Given the description of an element on the screen output the (x, y) to click on. 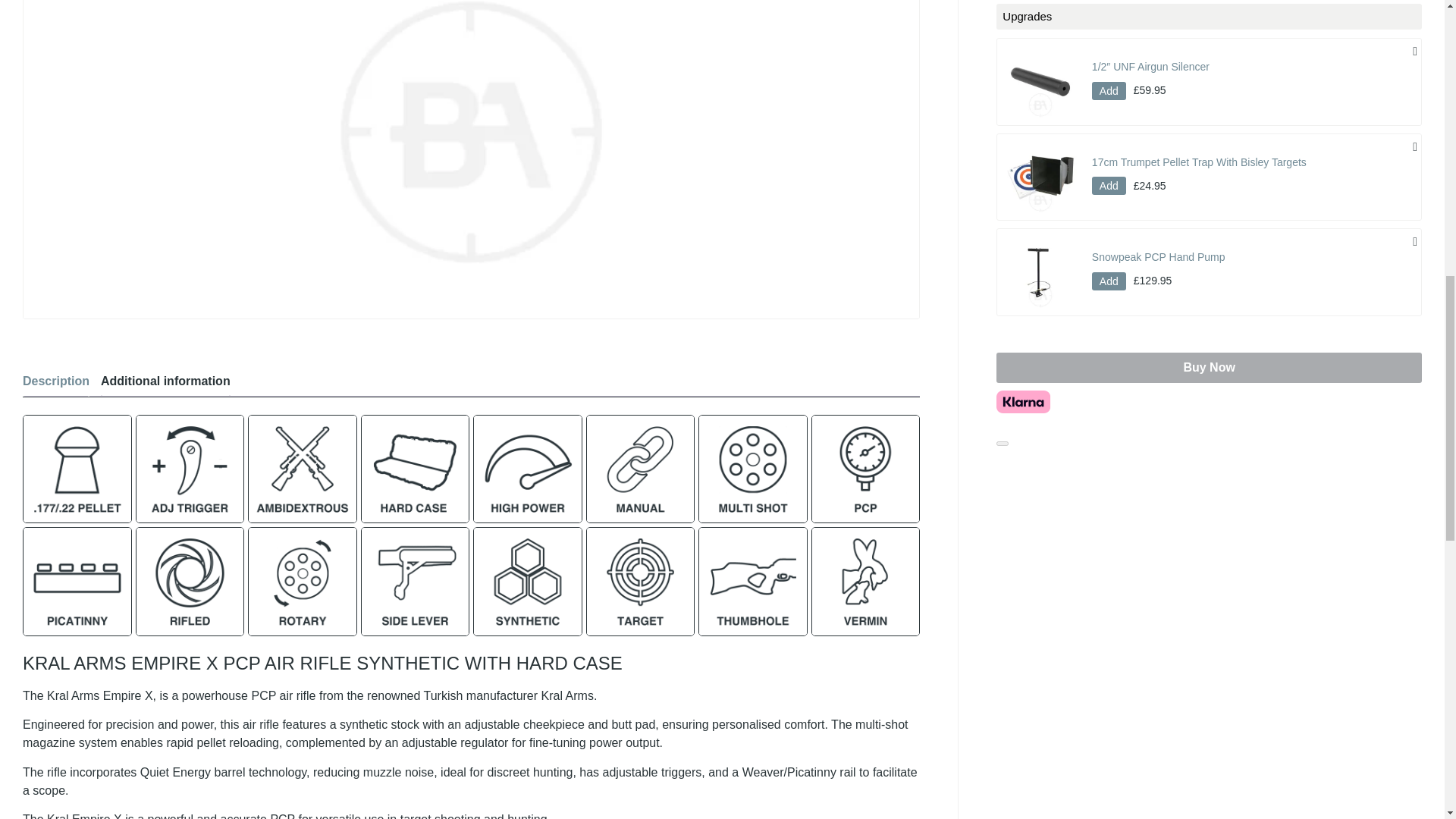
Side Lever (415, 581)
Multi shot (753, 469)
Description (55, 384)
Additional information (165, 384)
Target (640, 581)
Hard Case included (415, 469)
Picatinny Rail (77, 581)
PCP (865, 469)
Adjustable Trigger (189, 469)
Rifled Barrell (189, 581)
